Given the description of an element on the screen output the (x, y) to click on. 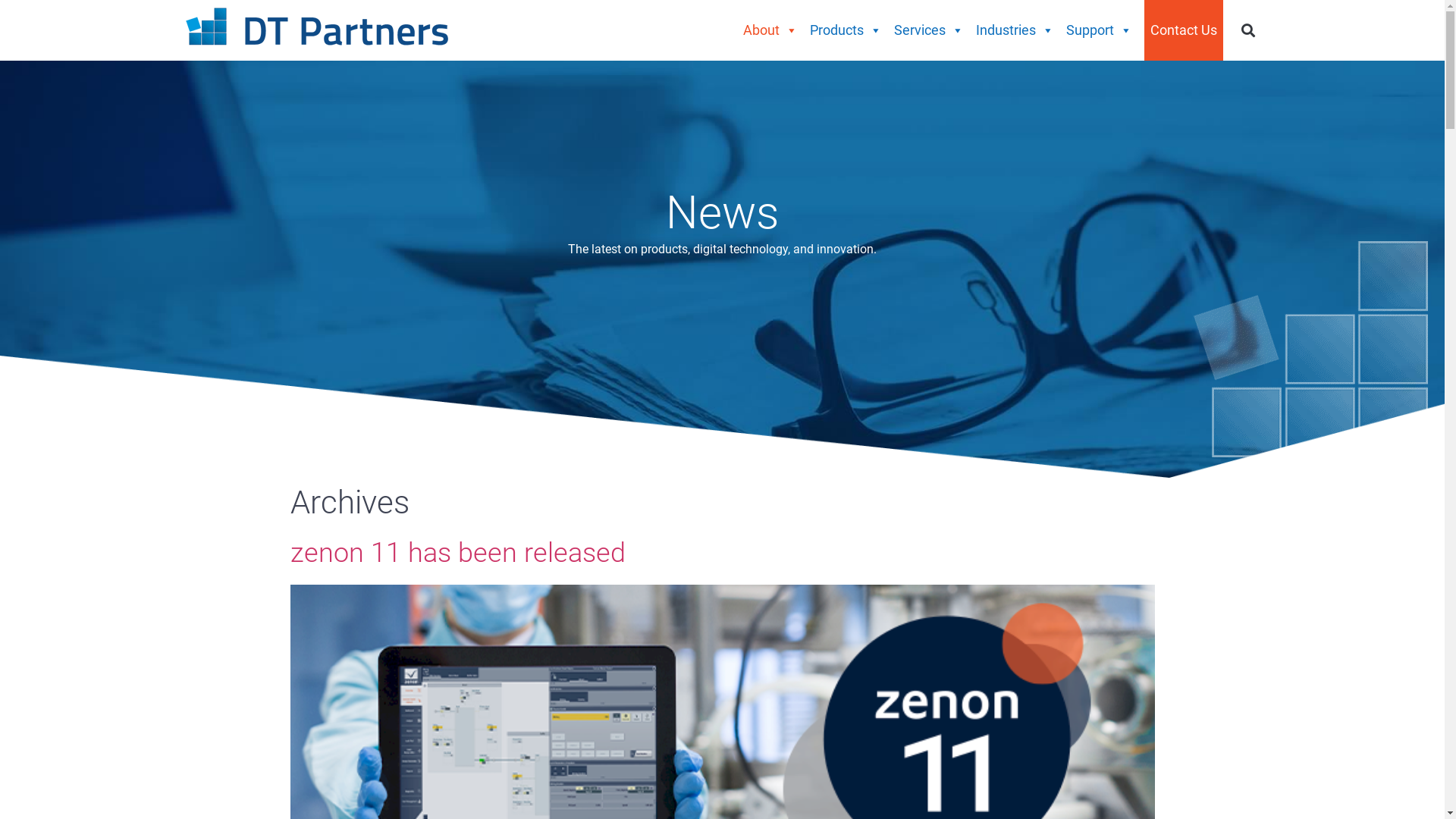
Industries Element type: text (1014, 30)
Services Element type: text (928, 30)
zenon 11 has been released Element type: text (456, 552)
About Element type: text (770, 30)
Products Element type: text (845, 30)
Contact Us Element type: text (1183, 30)
Support Element type: text (1099, 30)
